Given the description of an element on the screen output the (x, y) to click on. 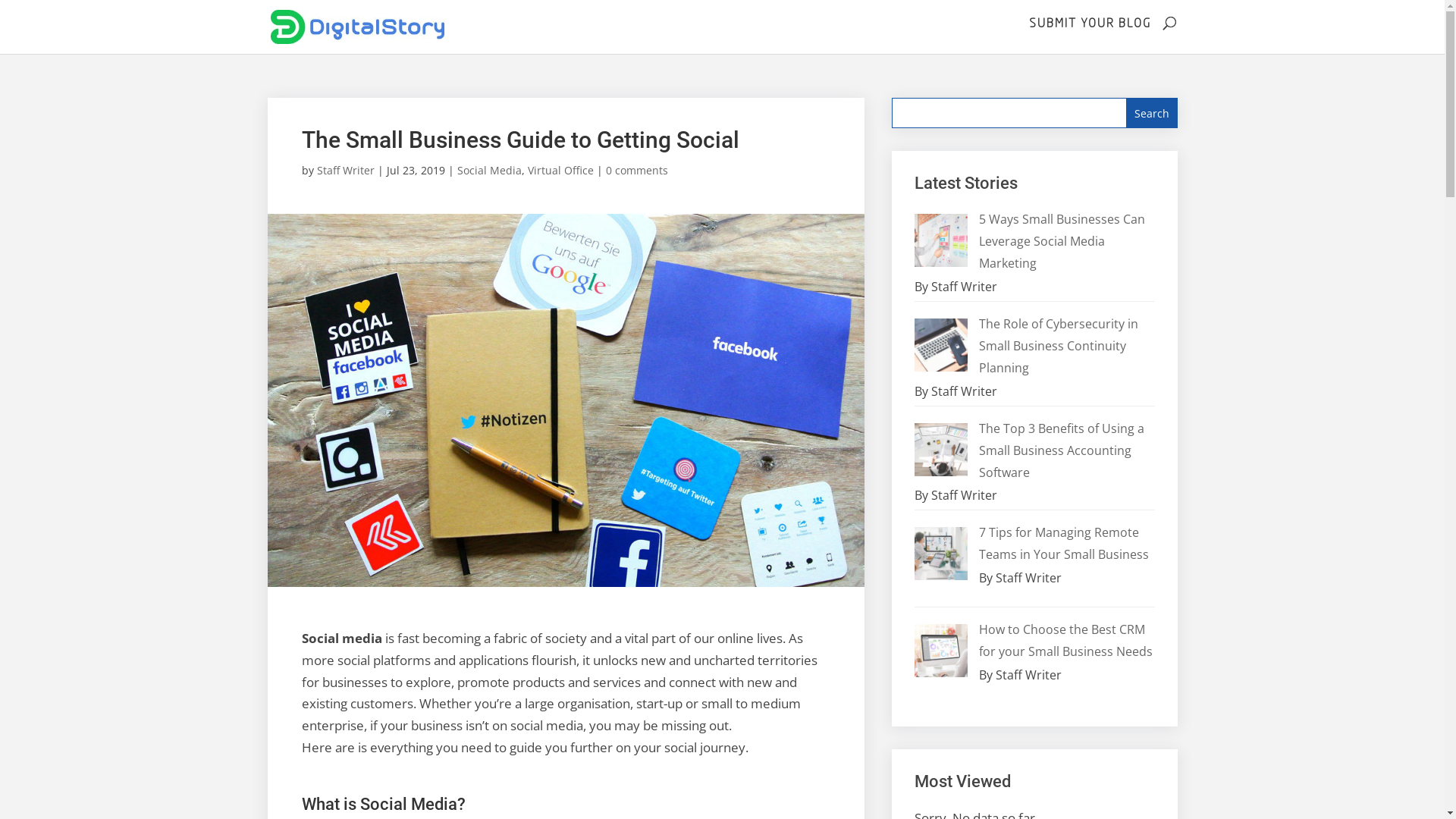
Search Element type: text (1151, 112)
0 comments Element type: text (636, 170)
Staff Writer Element type: text (345, 170)
Virtual Office Element type: text (560, 170)
SUBMIT YOUR BLOG Element type: text (1088, 21)
How to Choose the Best CRM for your Small Business Needs Element type: text (1065, 639)
5 Ways Small Businesses Can Leverage Social Media Marketing Element type: text (1062, 240)
Social Media Element type: text (488, 170)
7 Tips for Managing Remote Teams in Your Small Business Element type: text (1063, 542)
